Given the description of an element on the screen output the (x, y) to click on. 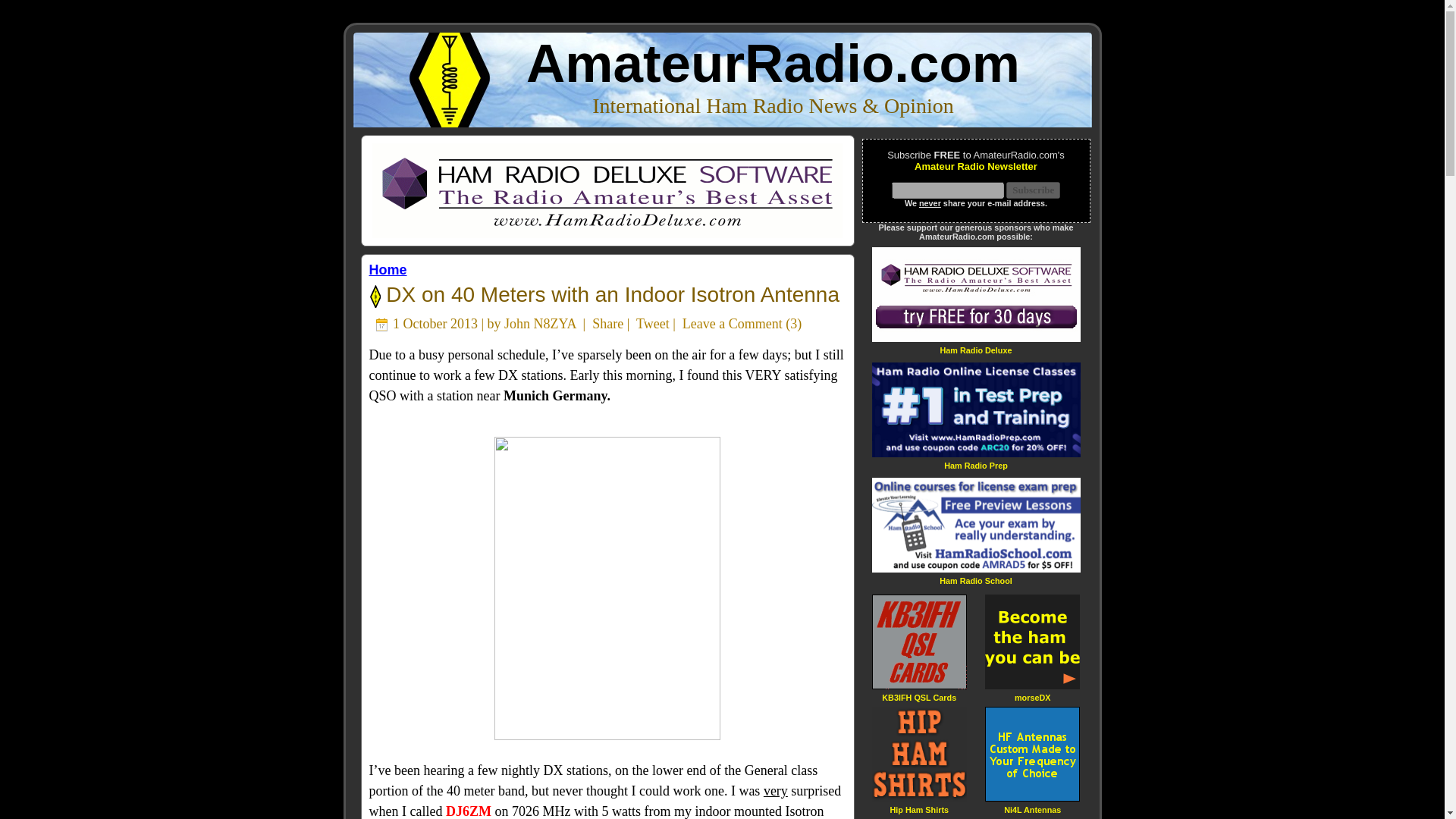
Ham Radio Deluxe (975, 349)
John N8ZYA (539, 323)
Tweet (652, 323)
Home (387, 269)
Subscribe (1032, 190)
Hip Ham Shirts (919, 808)
AmateurRadio.com (772, 63)
Ham Radio School (975, 580)
Subscribe (1032, 190)
DX on 40 Meters with an Indoor Isotron Antenna (610, 294)
Ham Radio Prep (975, 464)
Share (607, 323)
DX on 40 Meters with an Indoor Isotron Antenna (610, 294)
KB3IFH QSL Cards (919, 696)
Leave a Comment (732, 323)
